Given the description of an element on the screen output the (x, y) to click on. 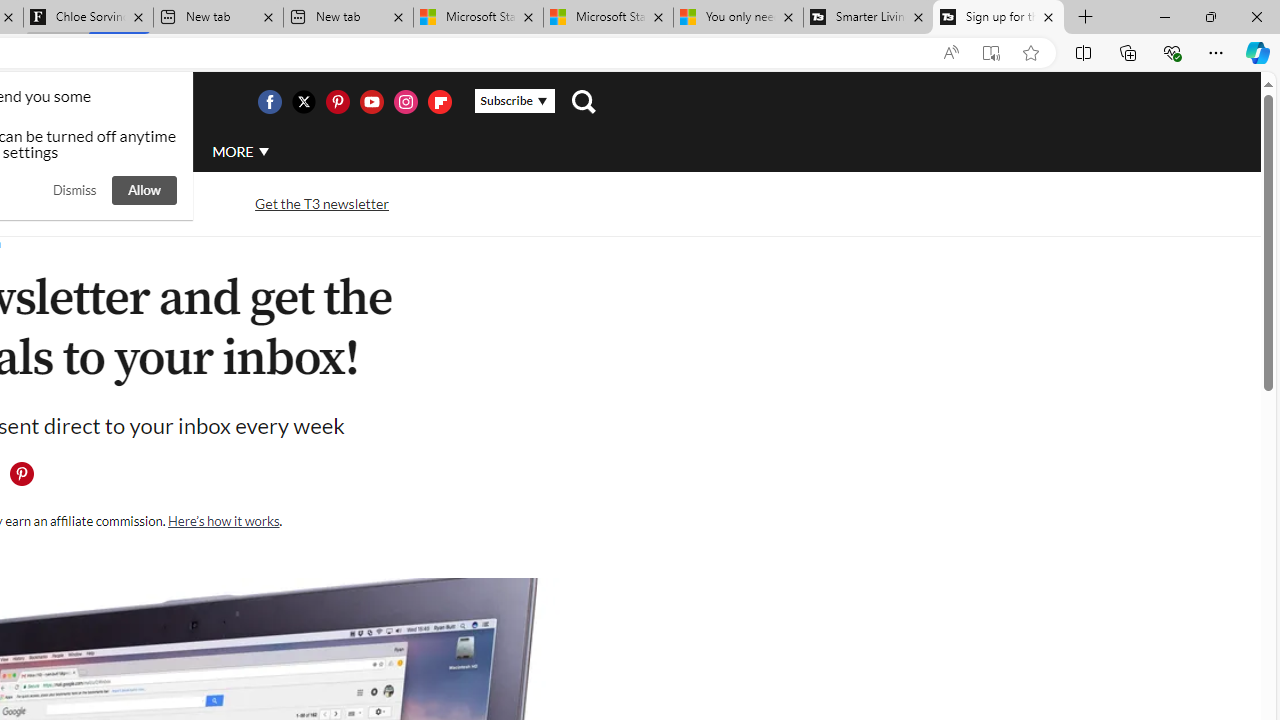
MORE  (239, 151)
Chloe Sorvino (88, 17)
Visit us on Flipboard (439, 101)
Visit us on Instagram (405, 101)
Get the T3 newsletter (322, 204)
Get the T3 newsletter (322, 202)
AUTO (153, 151)
LUXURY (66, 151)
Class: navigation__search (583, 101)
Streaming TV and movies (105, 202)
